Given the description of an element on the screen output the (x, y) to click on. 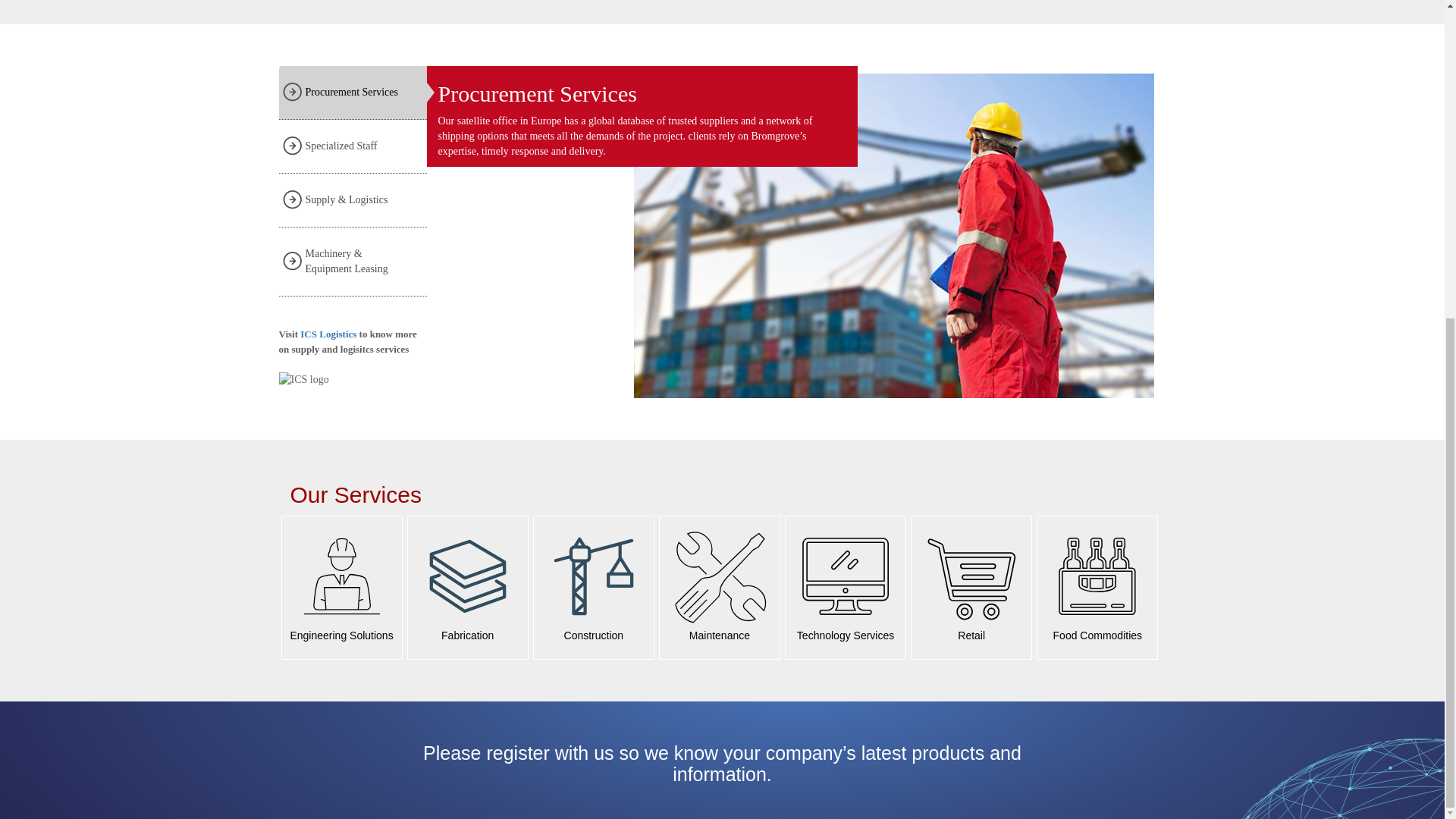
Specialized Staff (352, 146)
ICS Logistics (327, 333)
Procurement Services (352, 92)
